Given the description of an element on the screen output the (x, y) to click on. 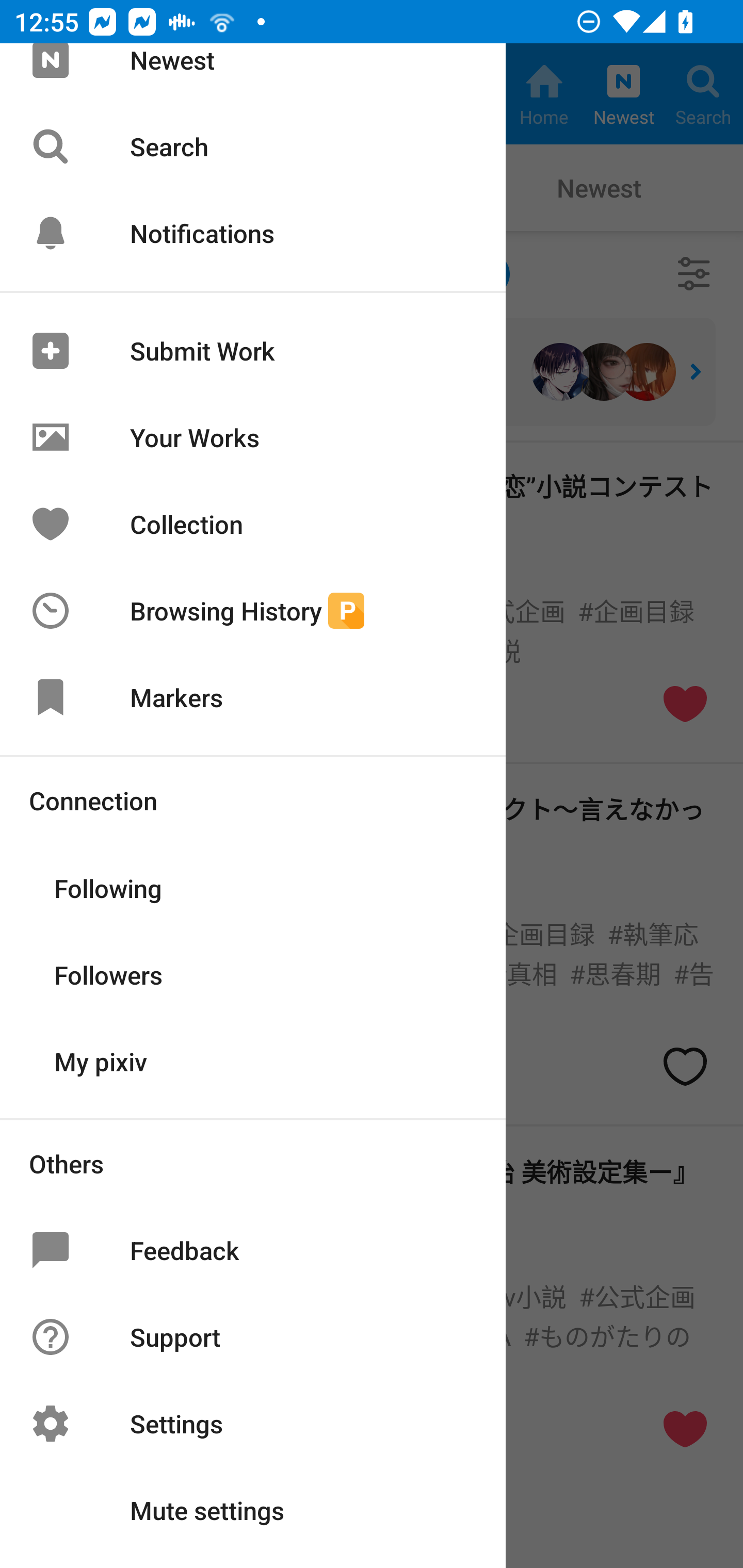
Newest (252, 73)
Search (252, 146)
Notifications (252, 232)
Submit Work (252, 350)
Your Works (252, 437)
Collection (252, 524)
Browsing History [P] (252, 610)
Markers (252, 696)
　Following (252, 886)
　Followers (252, 973)
　My pixiv (252, 1060)
Feedback (252, 1250)
Support (252, 1336)
Settings (252, 1423)
Mute settings (252, 1510)
